Given the description of an element on the screen output the (x, y) to click on. 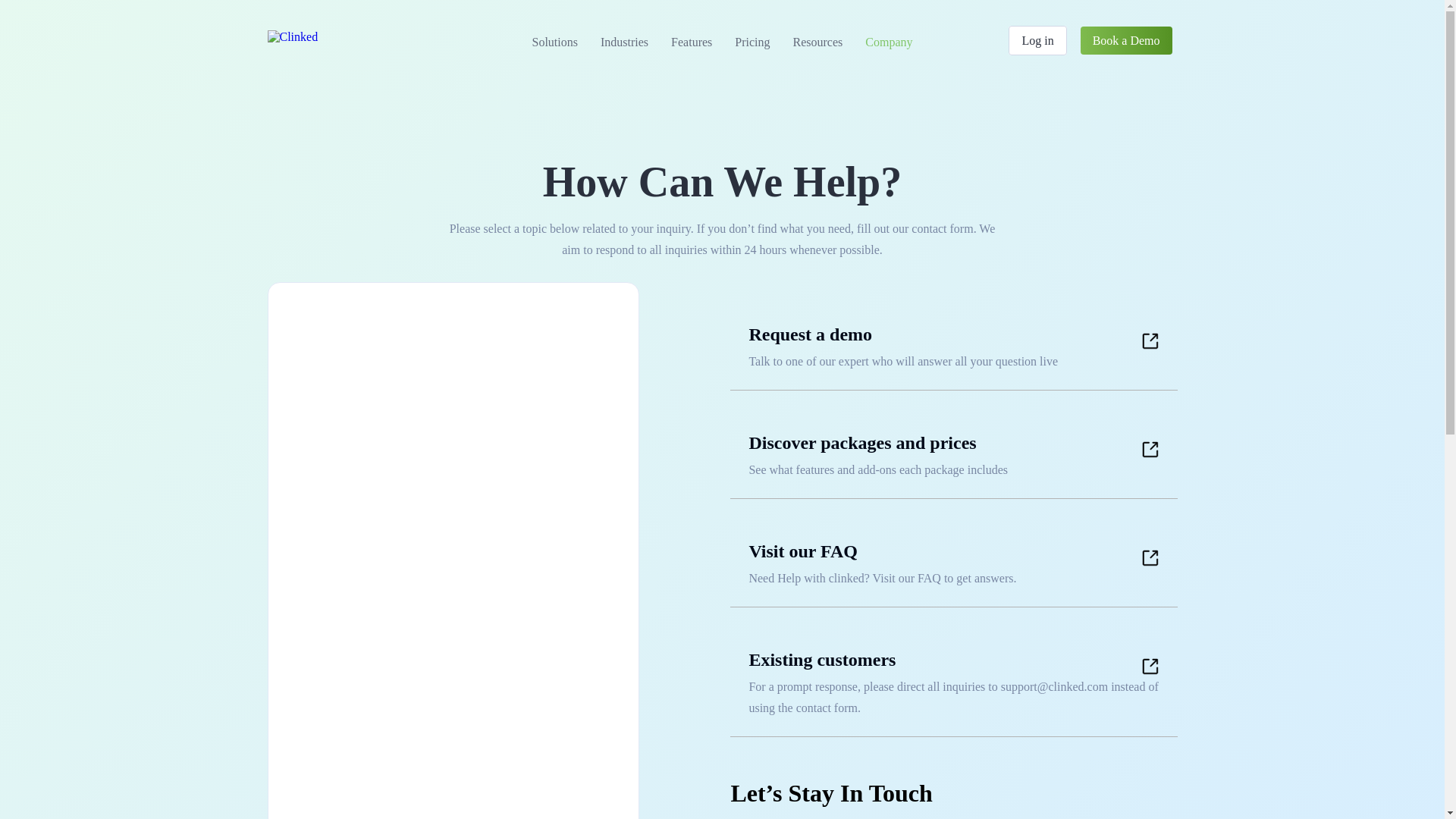
Industries (624, 42)
Company (888, 42)
Features (691, 42)
Pricing (751, 42)
Solutions (553, 42)
Resources (816, 42)
